Given the description of an element on the screen output the (x, y) to click on. 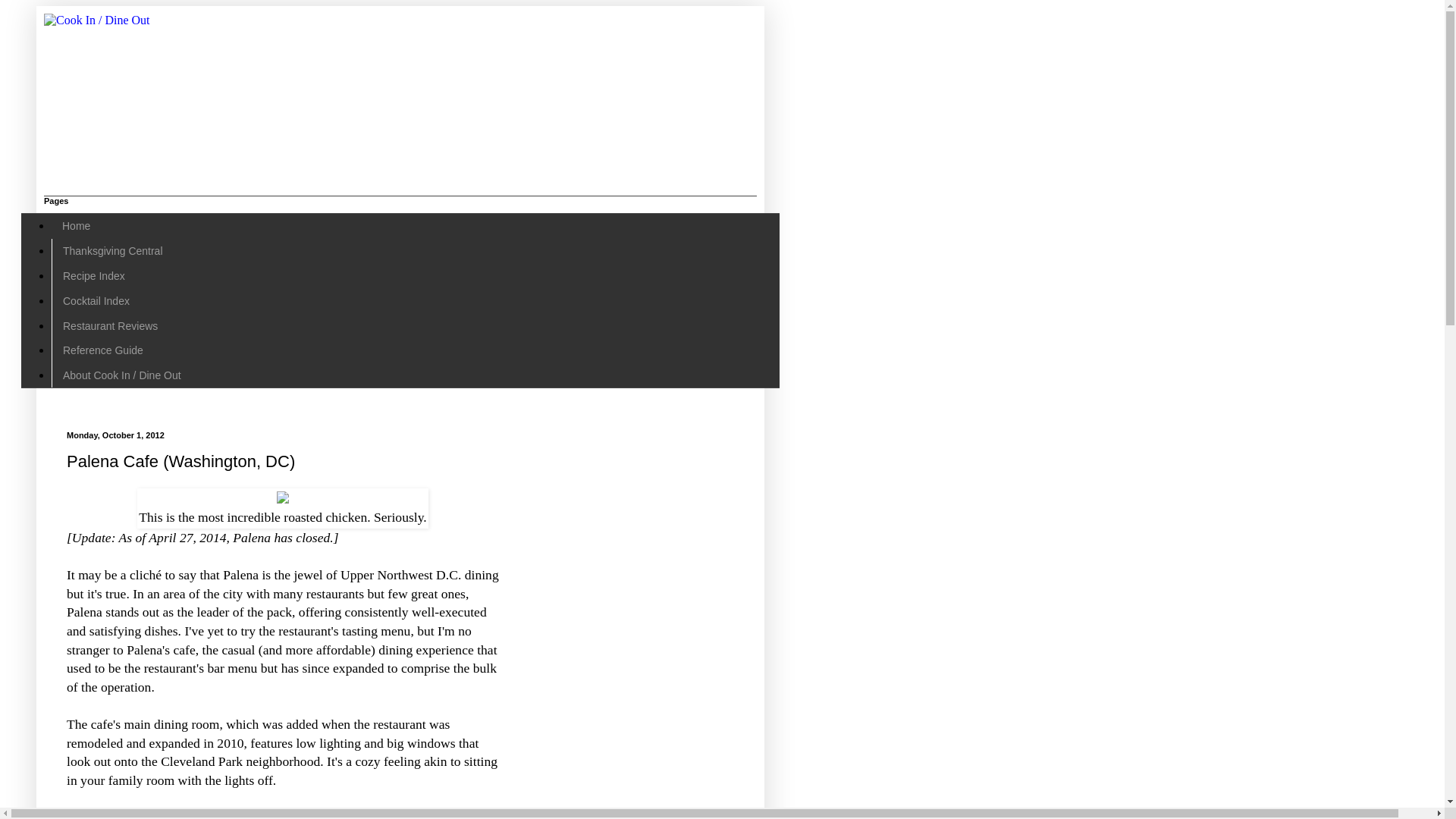
Cocktail Index (94, 300)
Home (75, 226)
Reference Guide (102, 350)
Thanksgiving Central (111, 251)
Recipe Index (92, 276)
Restaurant Reviews (109, 325)
